Given the description of an element on the screen output the (x, y) to click on. 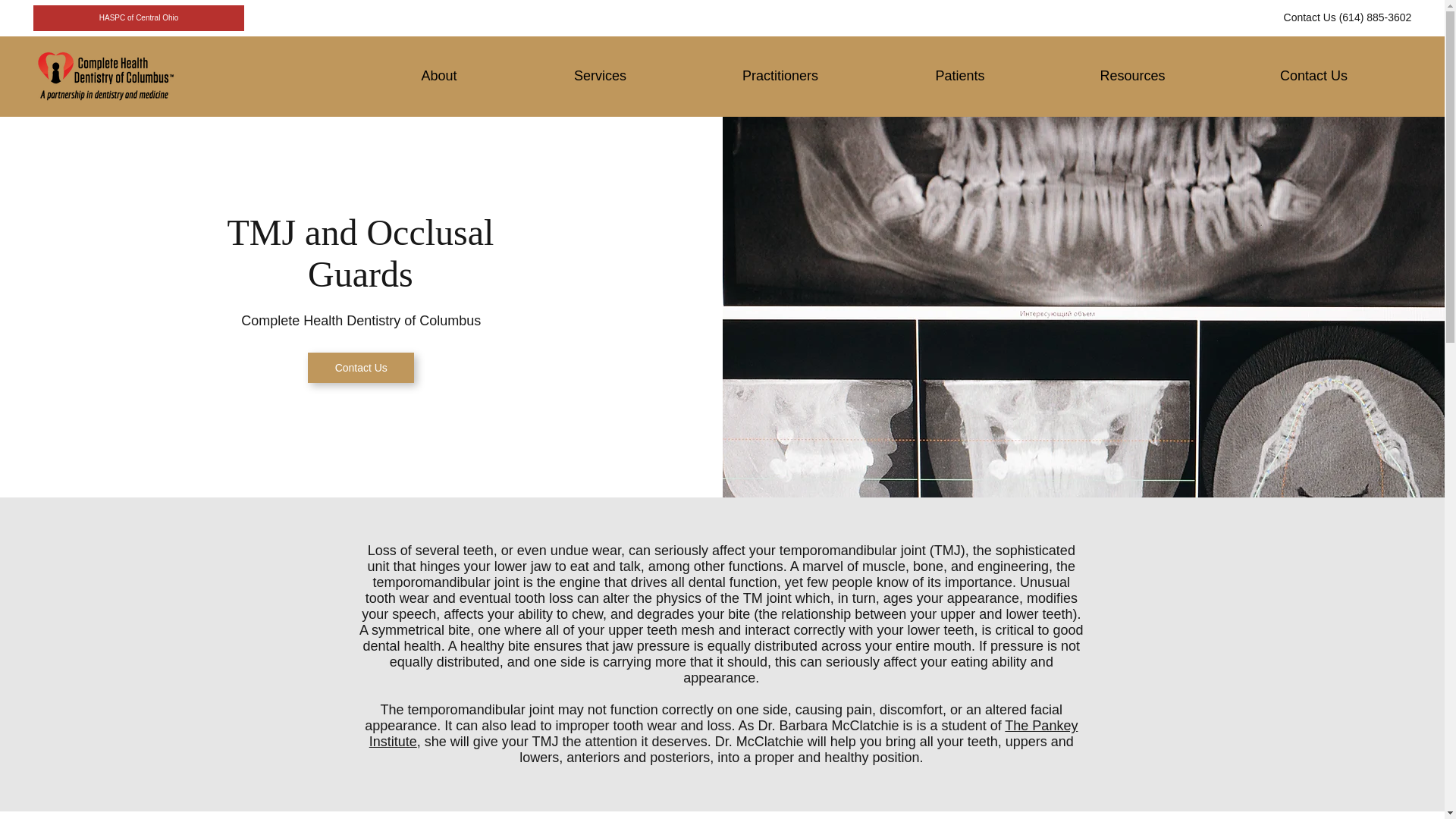
About (438, 75)
The Pankey Institute (723, 733)
Contact Us (1313, 75)
Contact Us (360, 367)
Patients (959, 75)
Services (599, 75)
Resources (1131, 75)
Practitioners (779, 75)
HASPC of Central Ohio (138, 17)
